Given the description of an element on the screen output the (x, y) to click on. 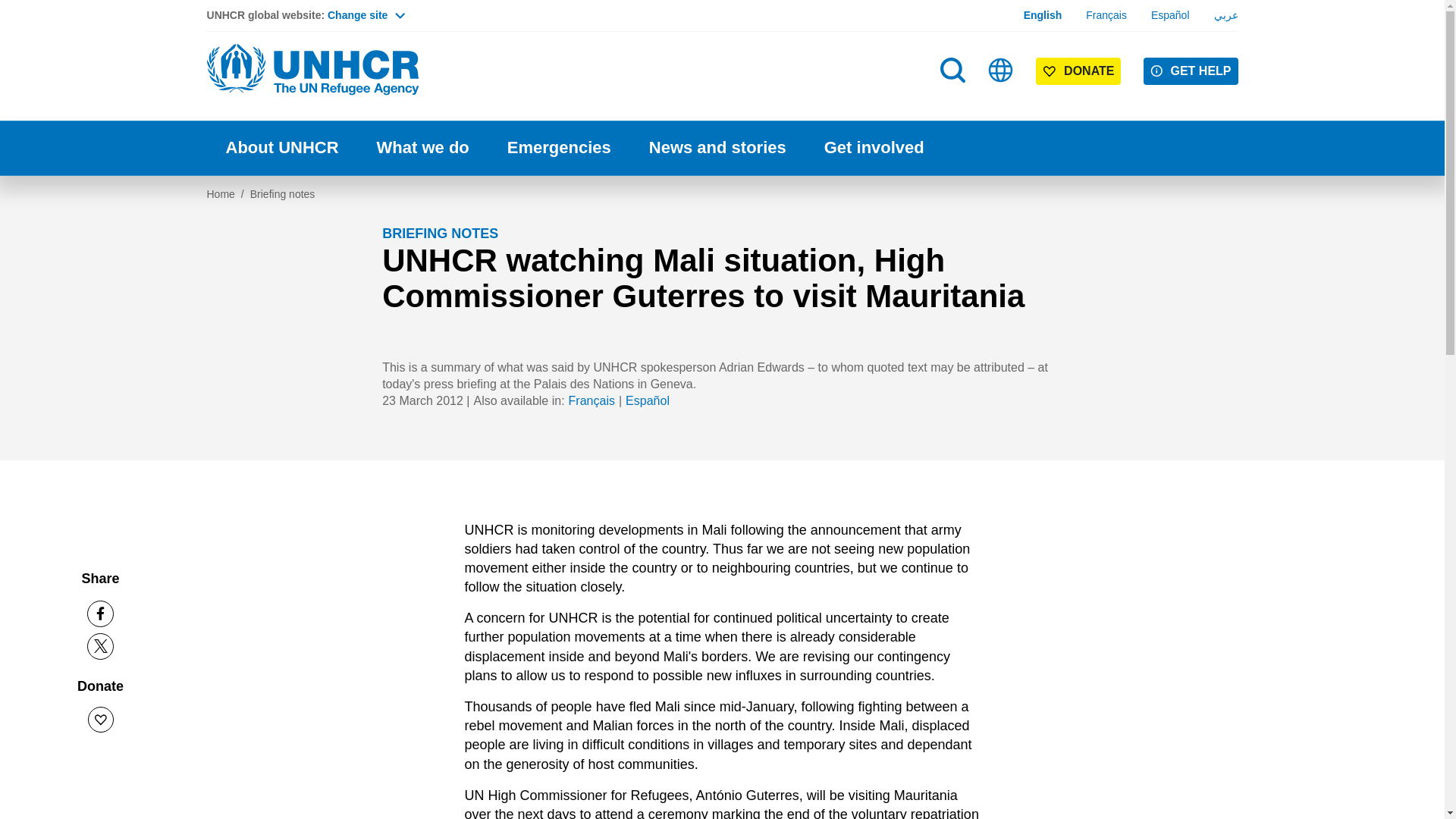
Search (952, 69)
Home (312, 69)
Change site (365, 15)
Skip to main content (721, 1)
Sites (1000, 69)
English (1042, 15)
GET HELP (1189, 71)
About UNHCR (281, 148)
DONATE (1078, 71)
Search (954, 99)
